Given the description of an element on the screen output the (x, y) to click on. 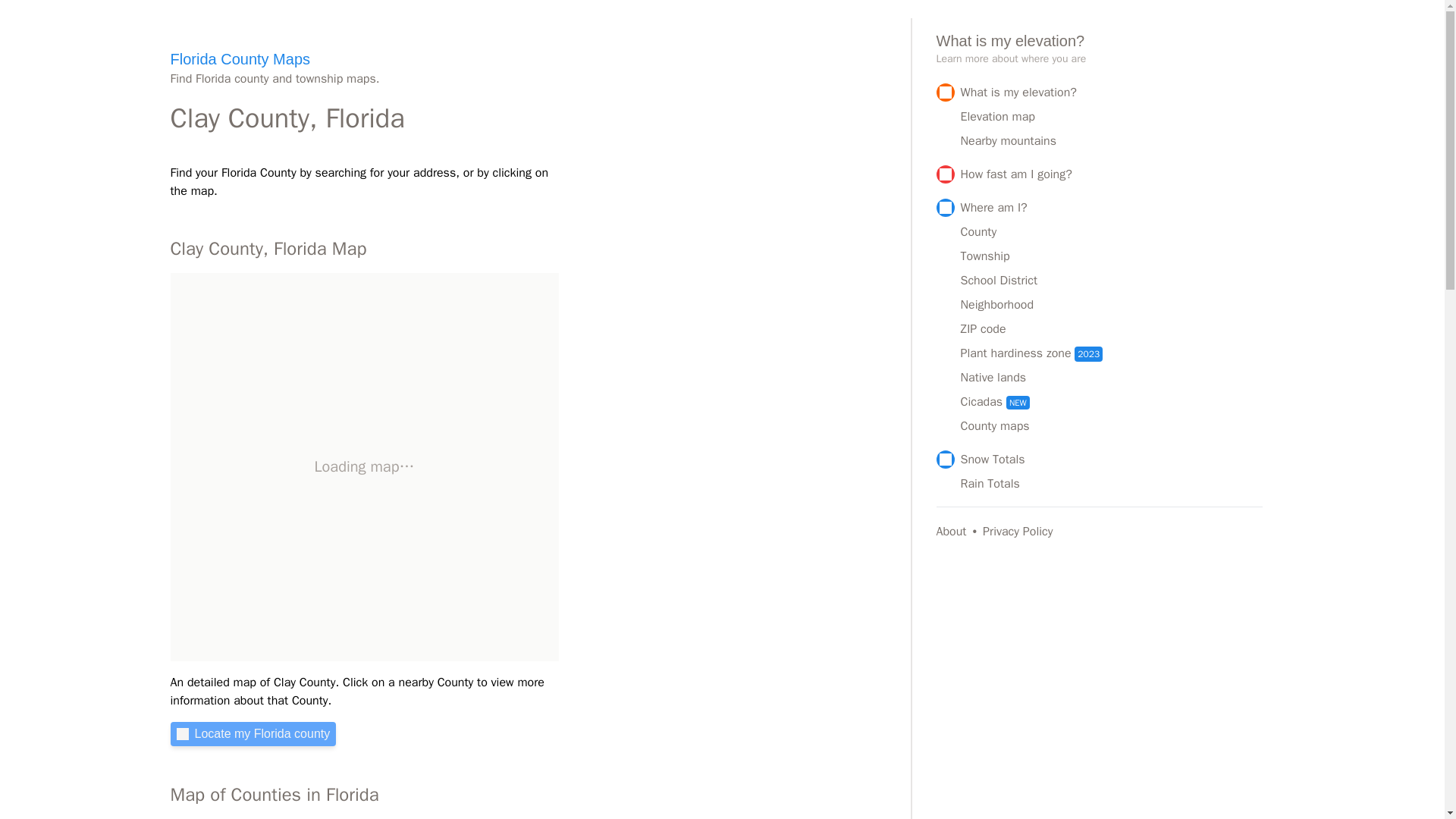
Elevation map (1111, 116)
ZIP code (1111, 329)
What is my elevation? (1099, 92)
How fast am I going? (1099, 174)
About (956, 531)
Rain Totals (1111, 484)
Snow Totals (1099, 459)
Nearby mountains (1111, 140)
Florida County Maps (240, 58)
School District (1111, 280)
